Given the description of an element on the screen output the (x, y) to click on. 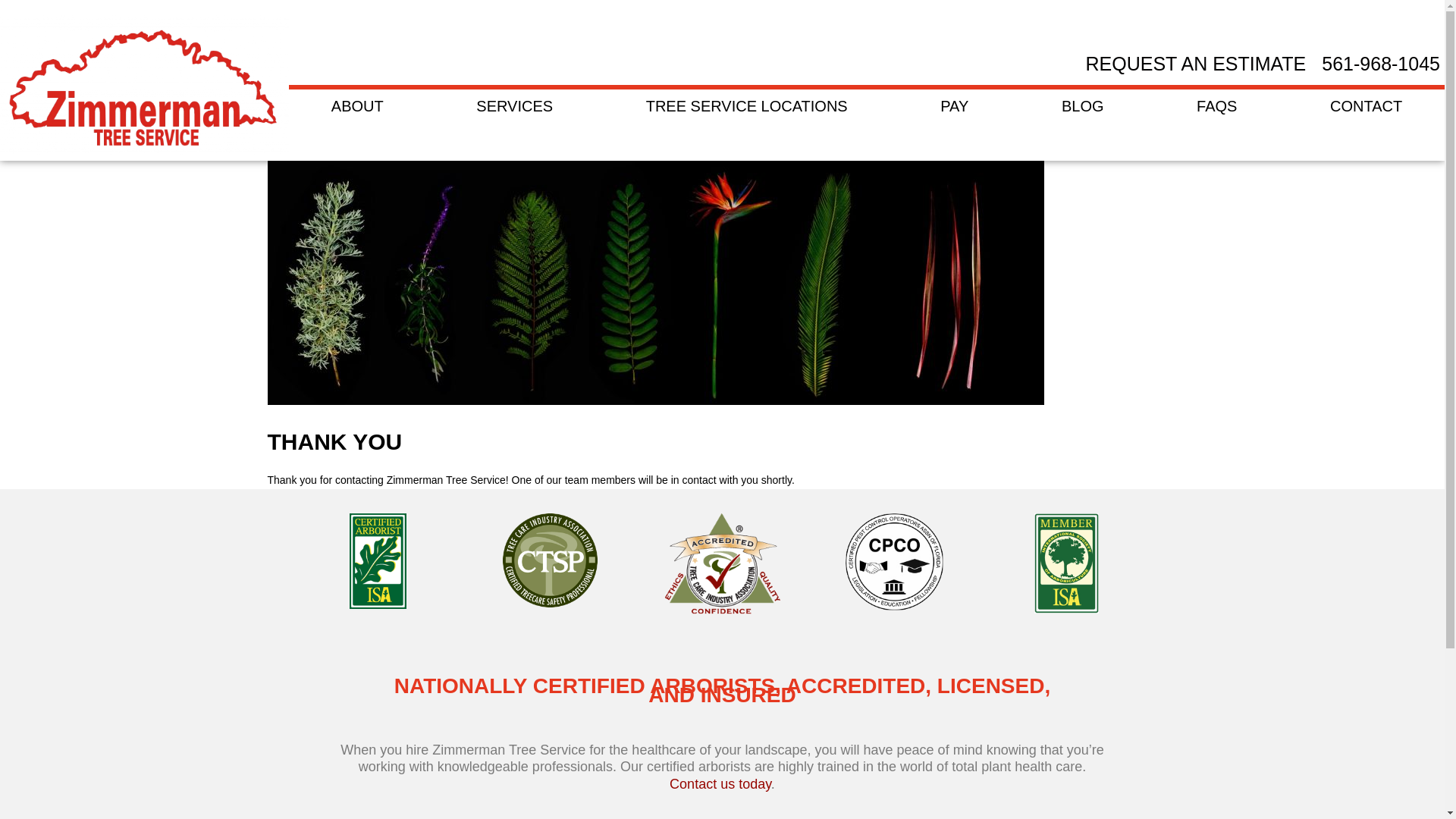
SERVICES (513, 105)
FAQS (1216, 105)
REQUEST AN ESTIMATE (1196, 63)
ABOUT (357, 105)
TREE SERVICE LOCATIONS (746, 105)
BLOG (1082, 105)
PAY (954, 105)
